Given the description of an element on the screen output the (x, y) to click on. 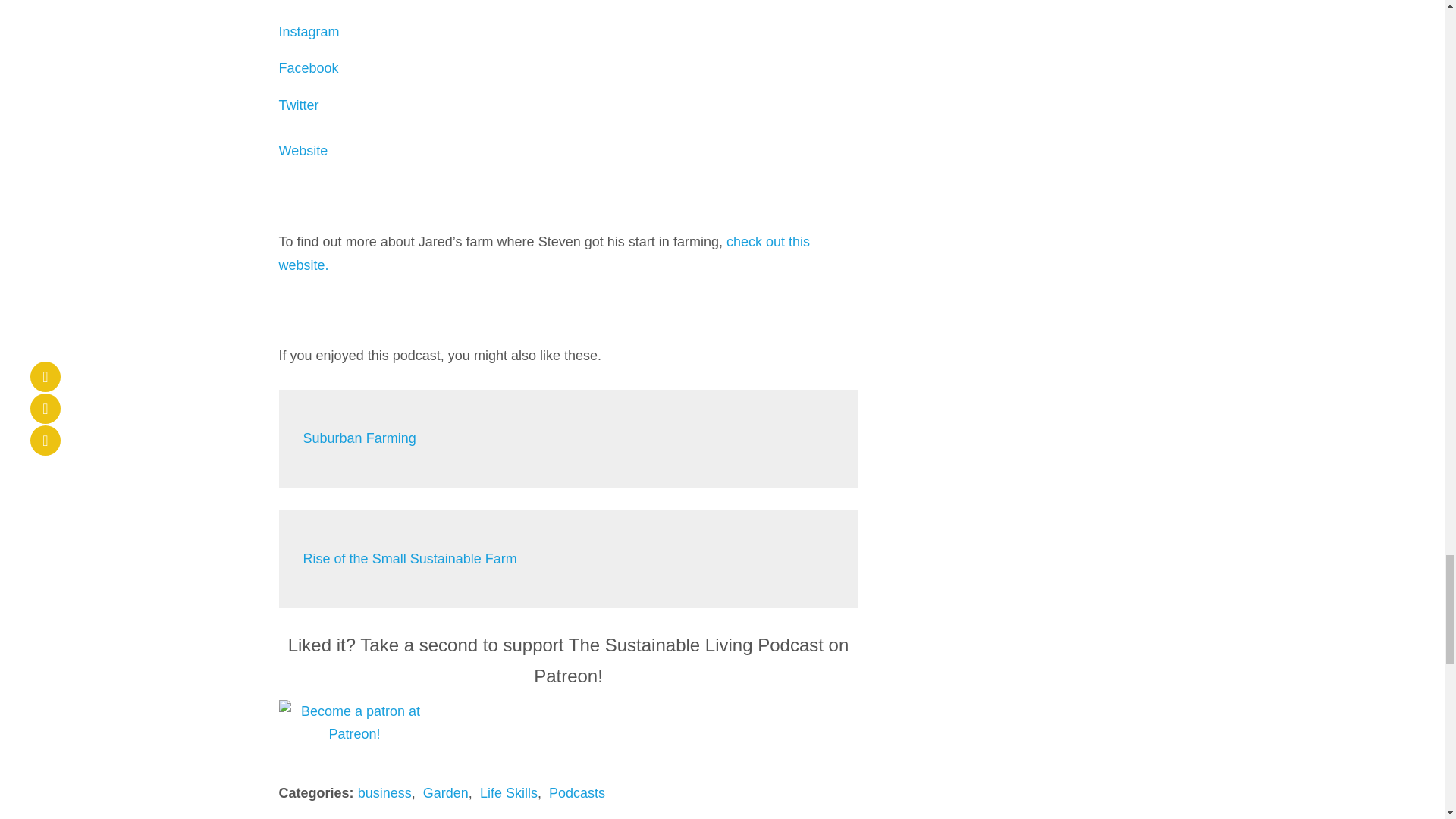
Garden (445, 792)
Suburban Farming (359, 437)
Podcasts (576, 792)
Facebook (309, 68)
Rise of the Small Sustainable Farm (409, 558)
Life Skills (508, 792)
YouTube  (307, 1)
business (385, 792)
check out this website. (544, 253)
Instagram (309, 31)
